Given the description of an element on the screen output the (x, y) to click on. 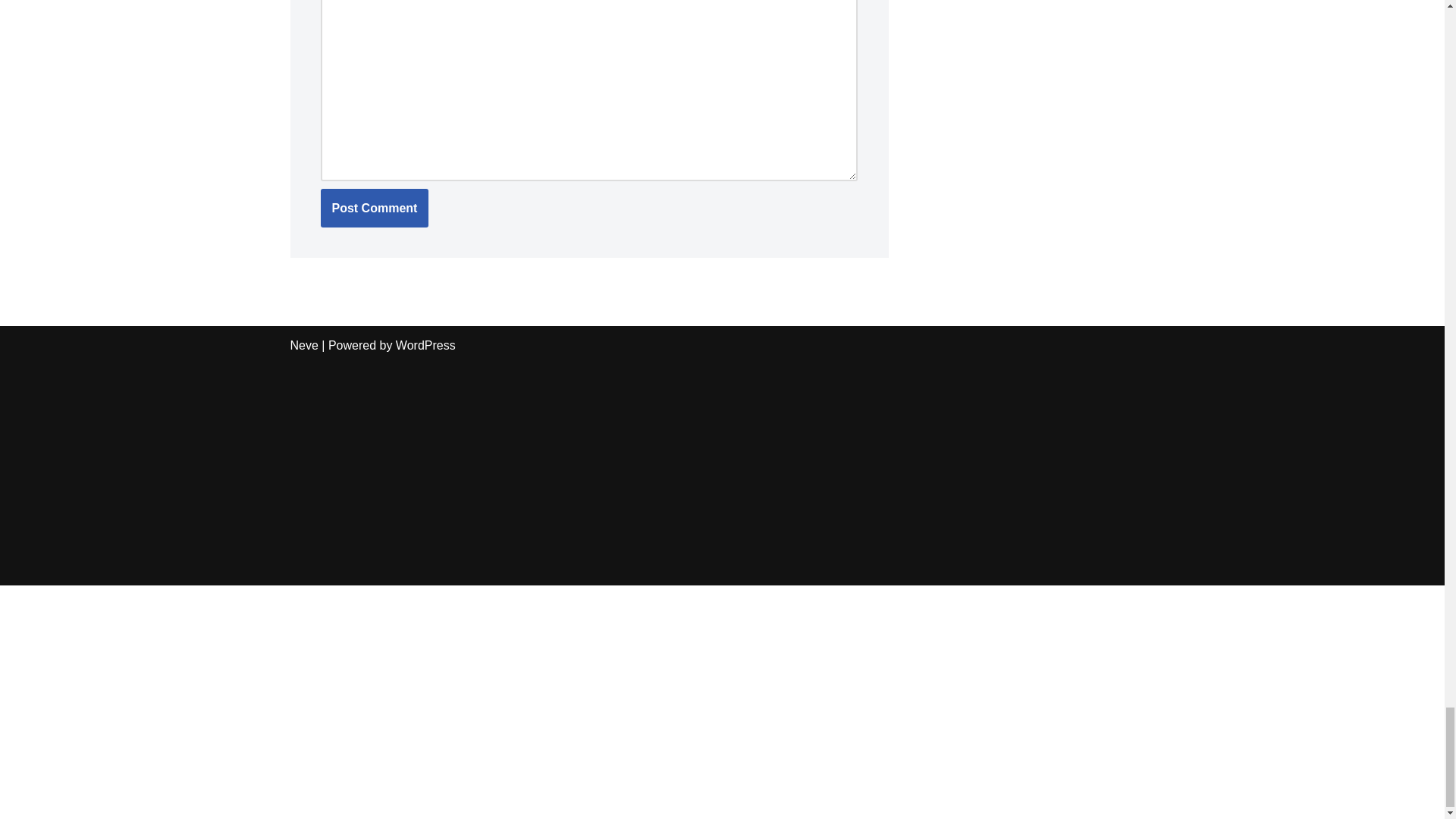
Neve (303, 345)
Post Comment (374, 208)
Post Comment (374, 208)
WordPress (425, 345)
